Given the description of an element on the screen output the (x, y) to click on. 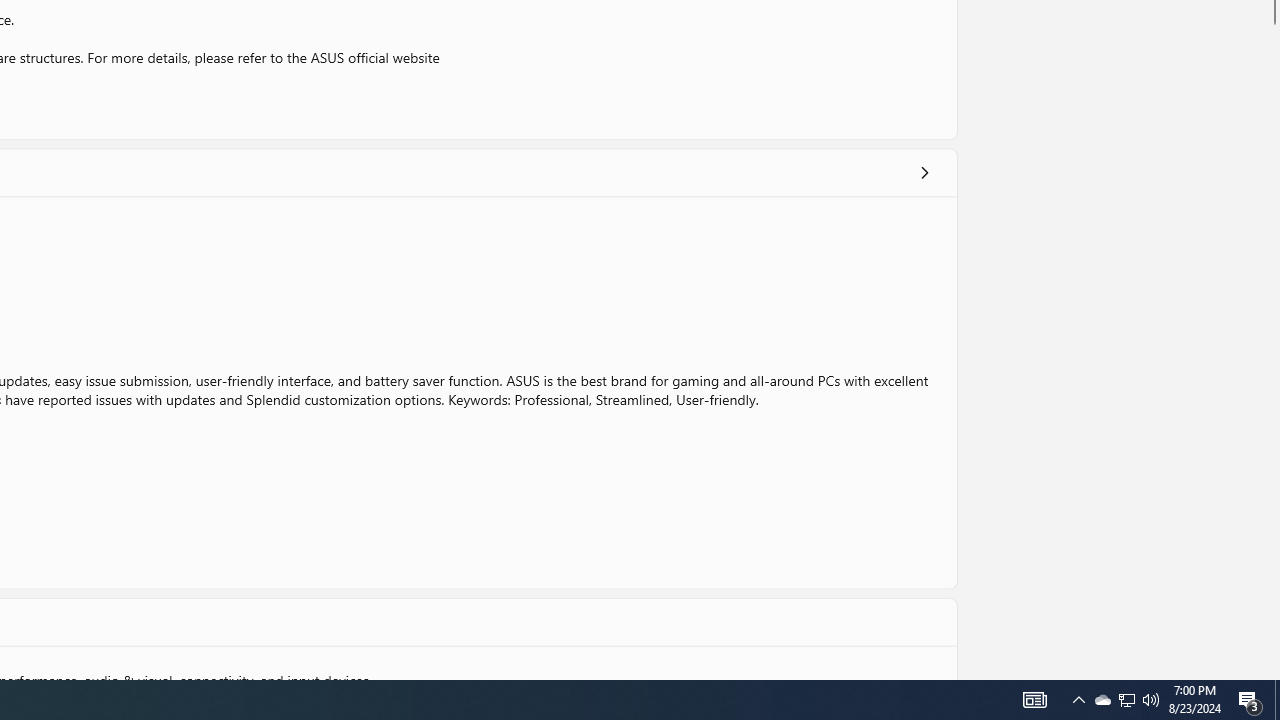
Vertical Large Increase (1272, 347)
Show all ratings and reviews (924, 171)
Vertical Small Increase (1272, 672)
